Given the description of an element on the screen output the (x, y) to click on. 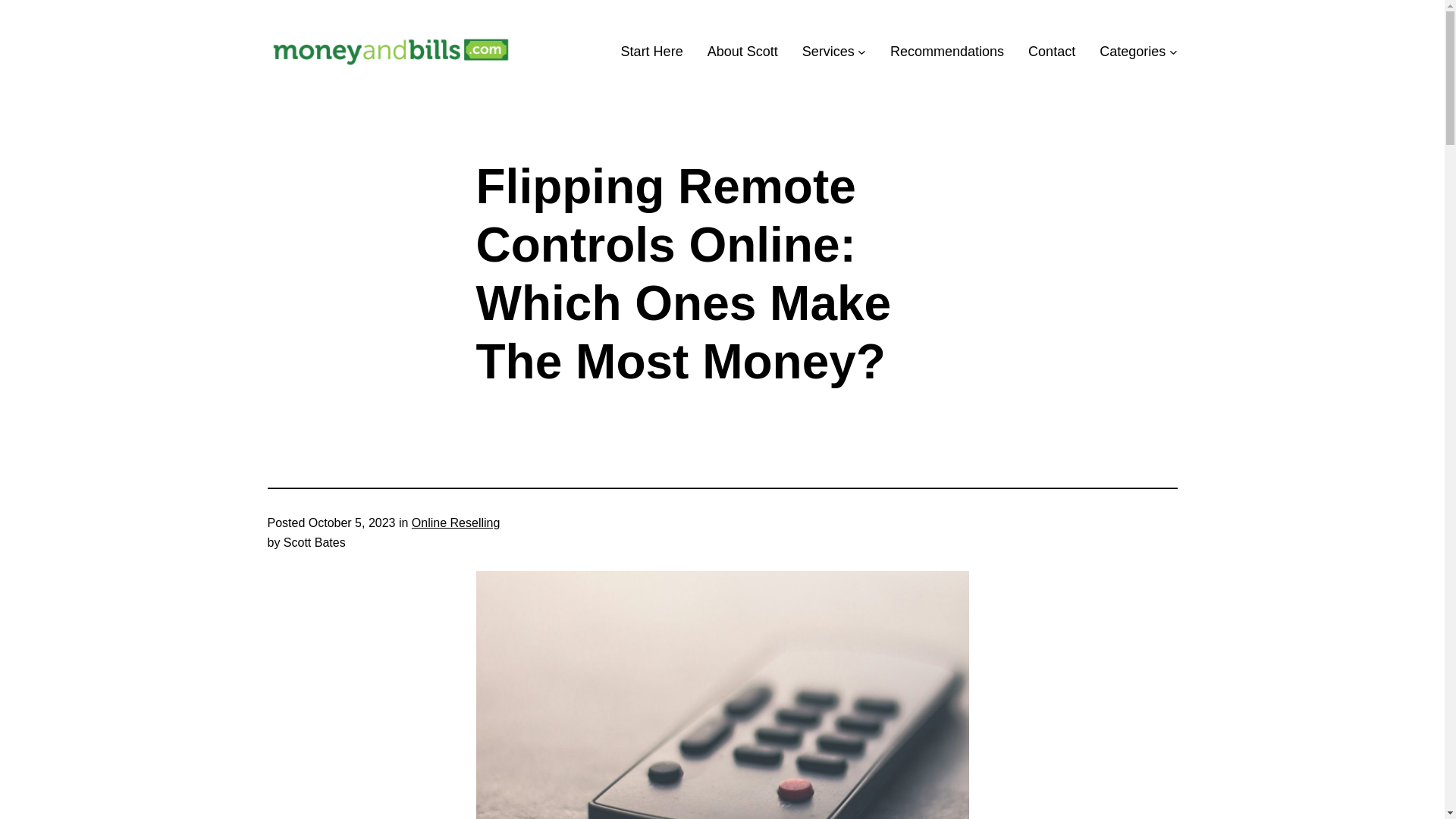
Start Here (651, 51)
Contact (1051, 51)
Categories (1132, 51)
Services (828, 51)
Recommendations (946, 51)
About Scott (742, 51)
Online Reselling (456, 522)
